Given the description of an element on the screen output the (x, y) to click on. 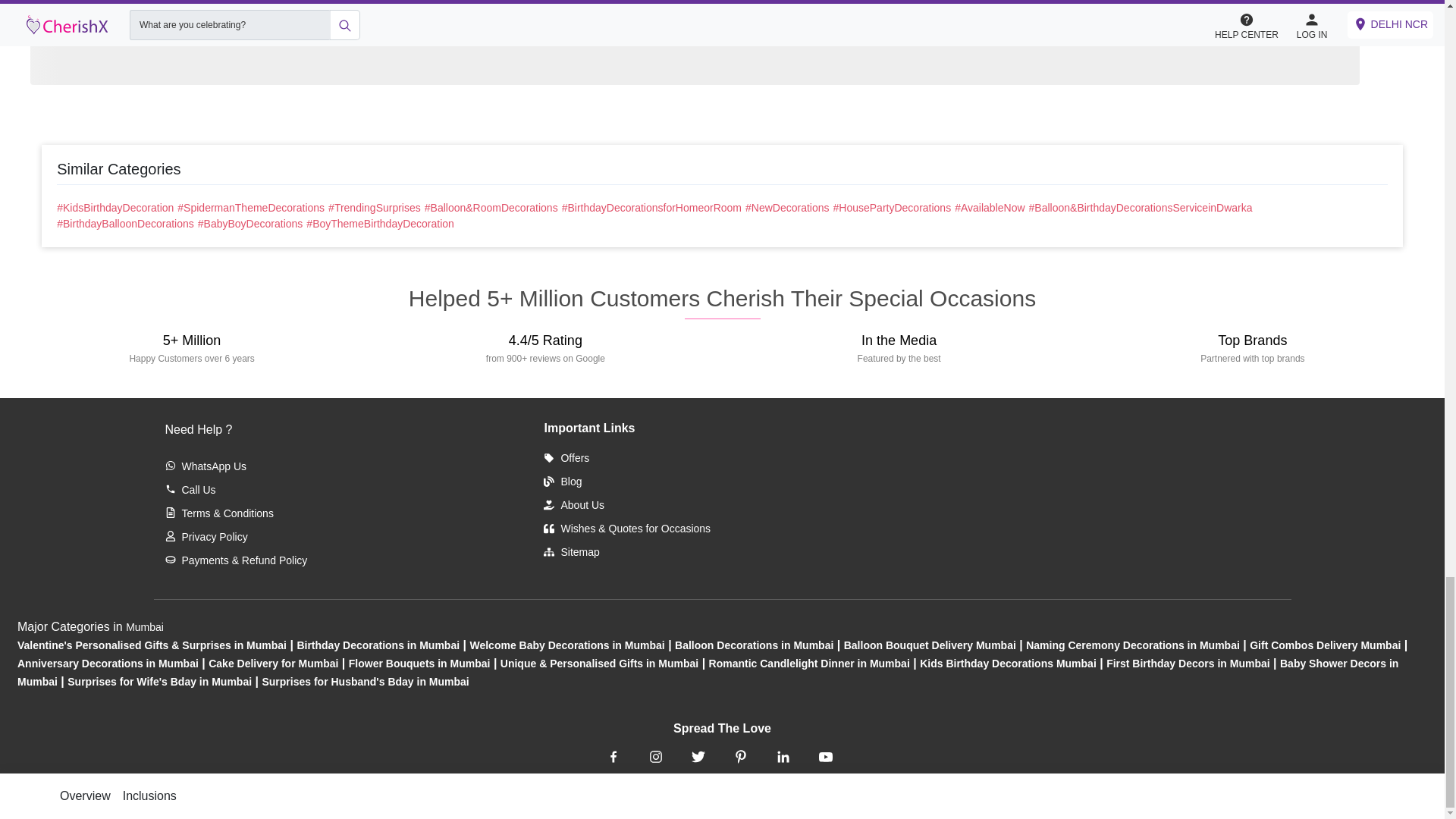
Privacy Policy (206, 536)
WhatsApp Us (206, 466)
Call Us (190, 490)
